Given the description of an element on the screen output the (x, y) to click on. 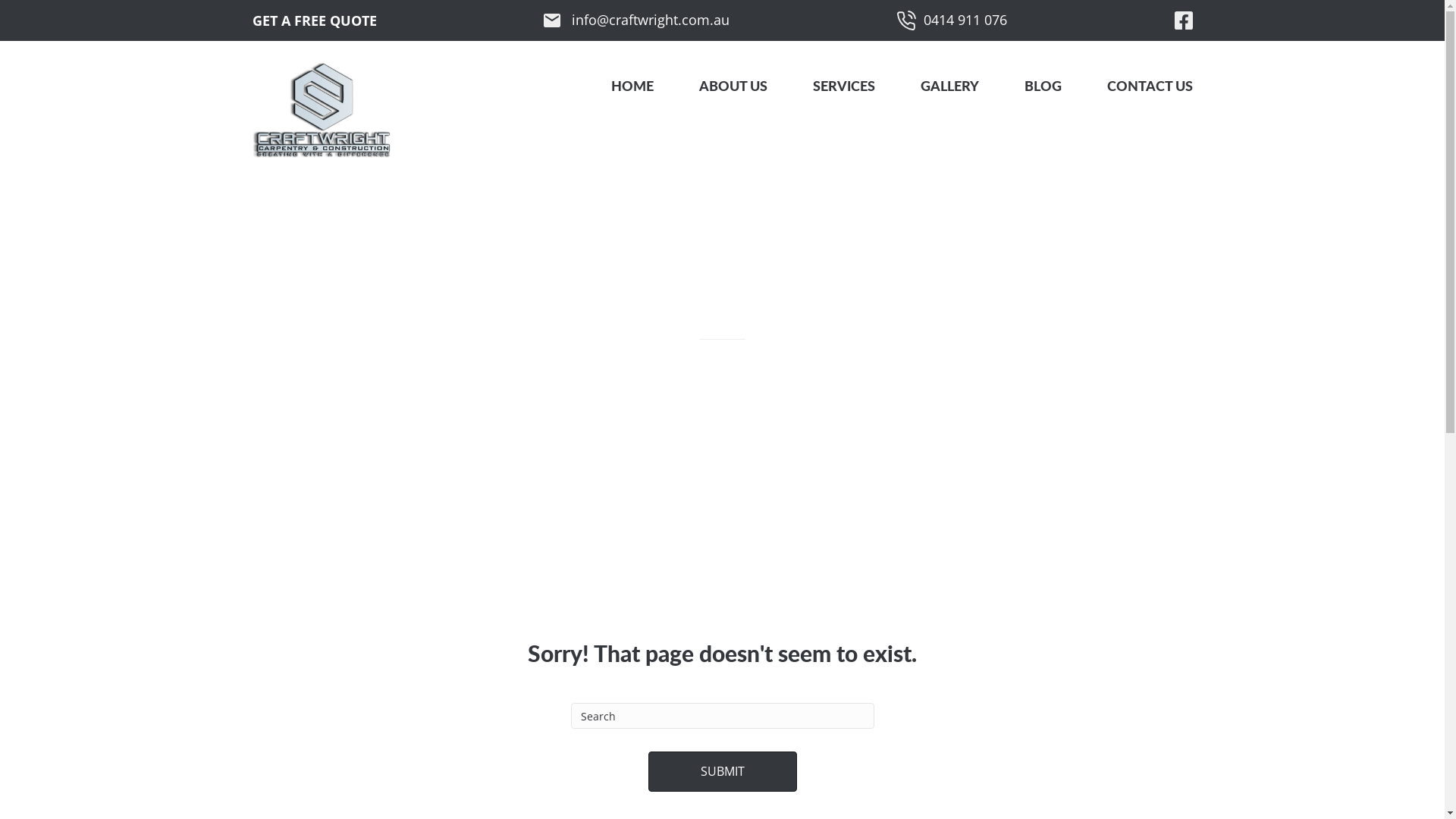
GALLERY Element type: text (949, 85)
SERVICES Element type: text (843, 85)
info@craftwright.com.au Element type: text (636, 19)
submit Element type: text (721, 771)
Type and press Enter to search. Element type: hover (721, 746)
CONTACT US Element type: text (1138, 85)
ABOUT US Element type: text (733, 85)
GET A FREE QUOTE Element type: text (313, 20)
HOME Element type: text (632, 85)
BLOG Element type: text (1042, 85)
0414 911 076 Element type: text (952, 19)
